Given the description of an element on the screen output the (x, y) to click on. 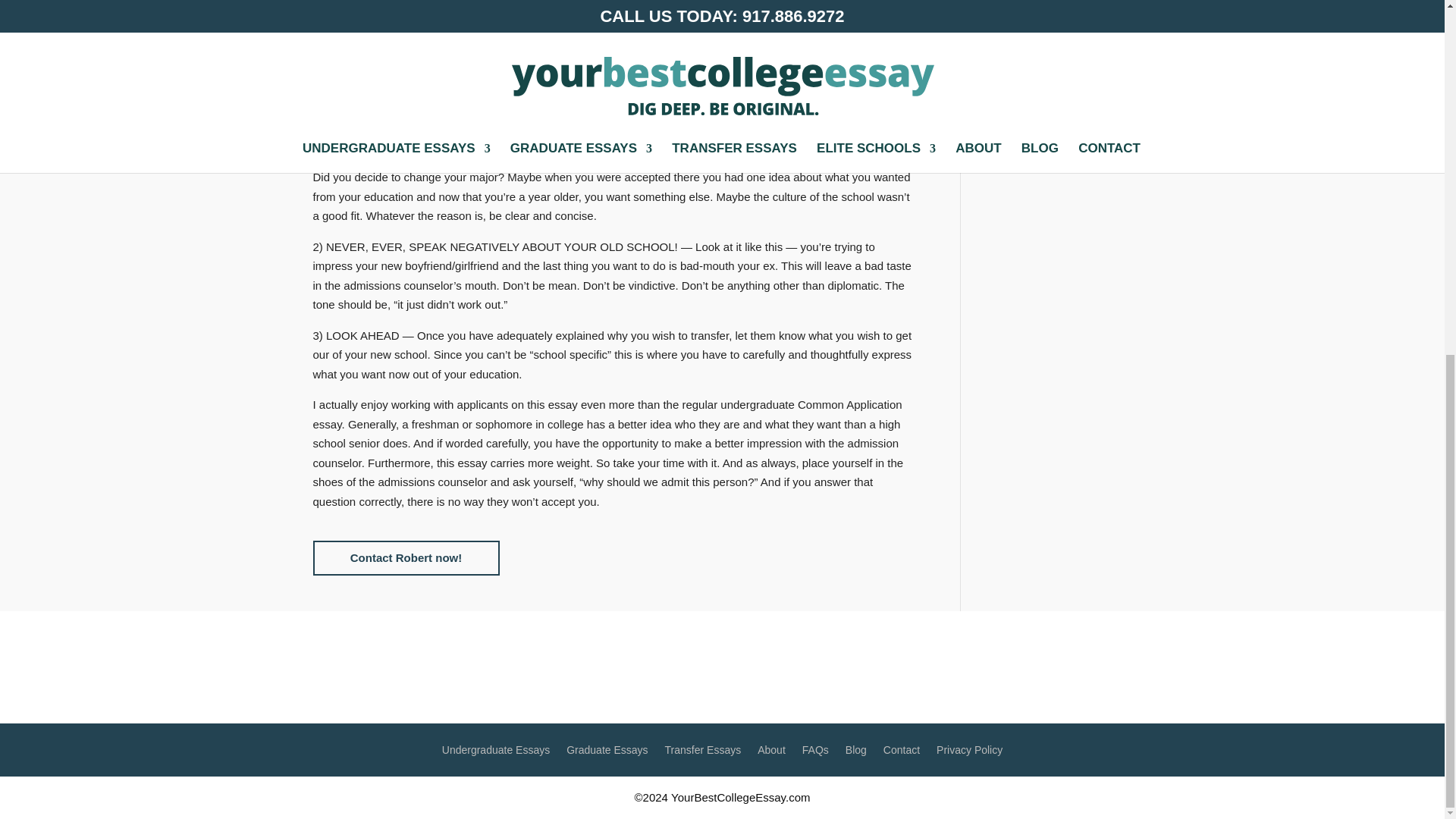
Robert Schwartz (771, 670)
Twitter (649, 670)
Facebook (616, 670)
Contact Robert now! (406, 557)
YouTube (683, 670)
